Given the description of an element on the screen output the (x, y) to click on. 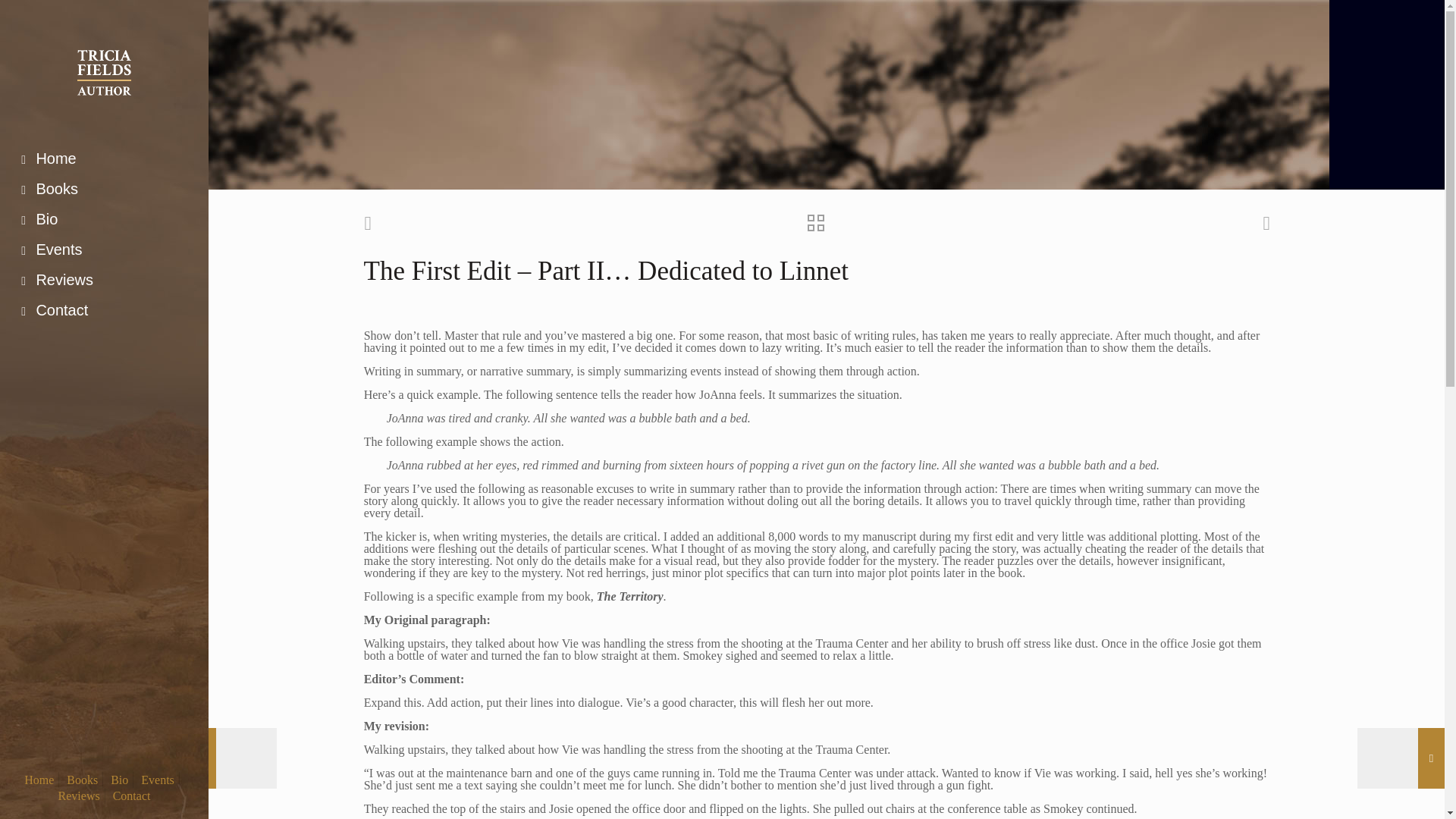
Books (81, 779)
Events (104, 250)
Bio (119, 779)
Tricia Fields (104, 71)
Contact (132, 795)
Reviews (79, 795)
Events (157, 779)
Reviews (104, 280)
Bio (104, 219)
Contact (104, 310)
Home (38, 779)
Books (104, 189)
Home (104, 159)
